Given the description of an element on the screen output the (x, y) to click on. 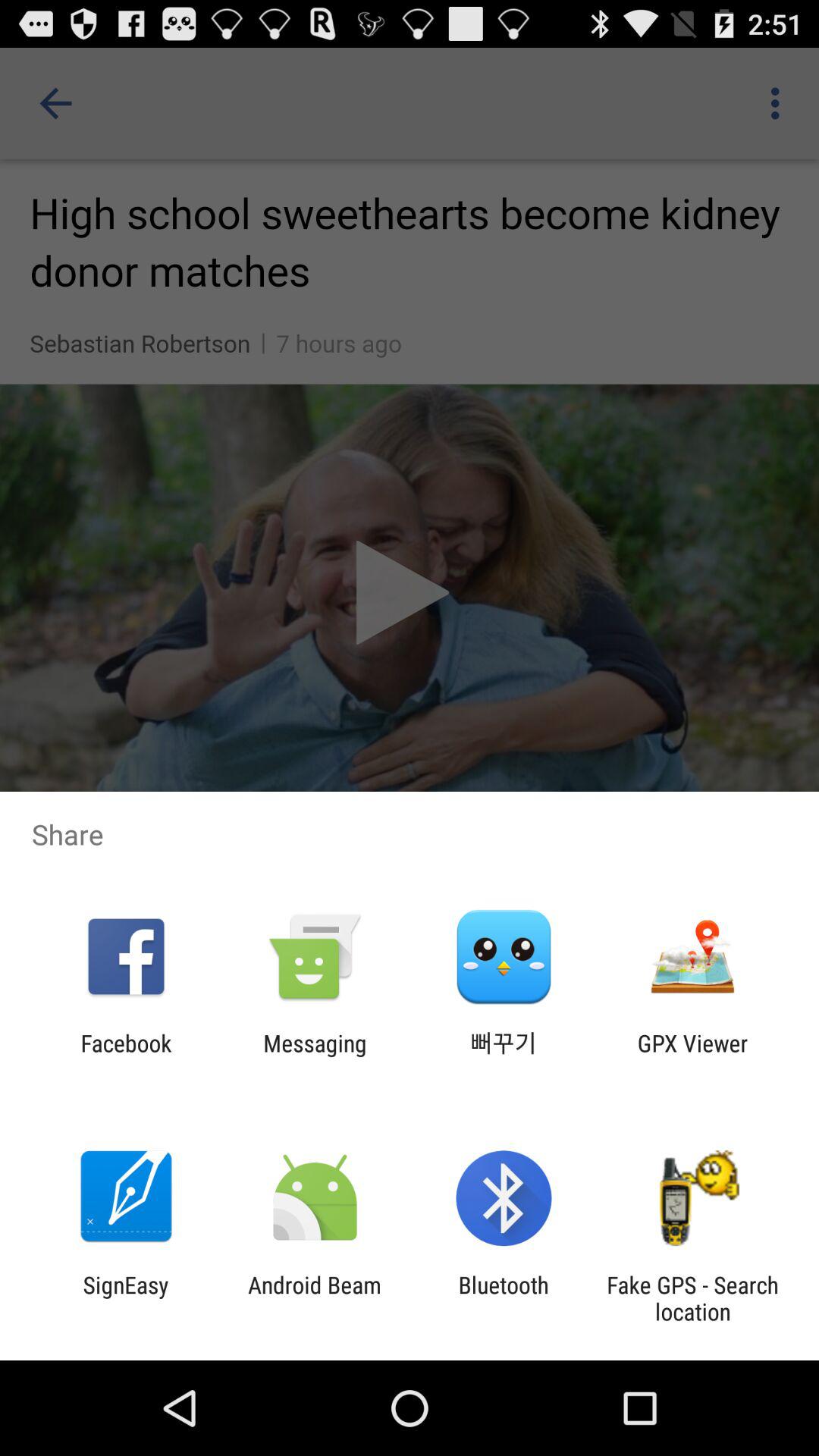
turn on the item to the right of the signeasy app (314, 1298)
